Given the description of an element on the screen output the (x, y) to click on. 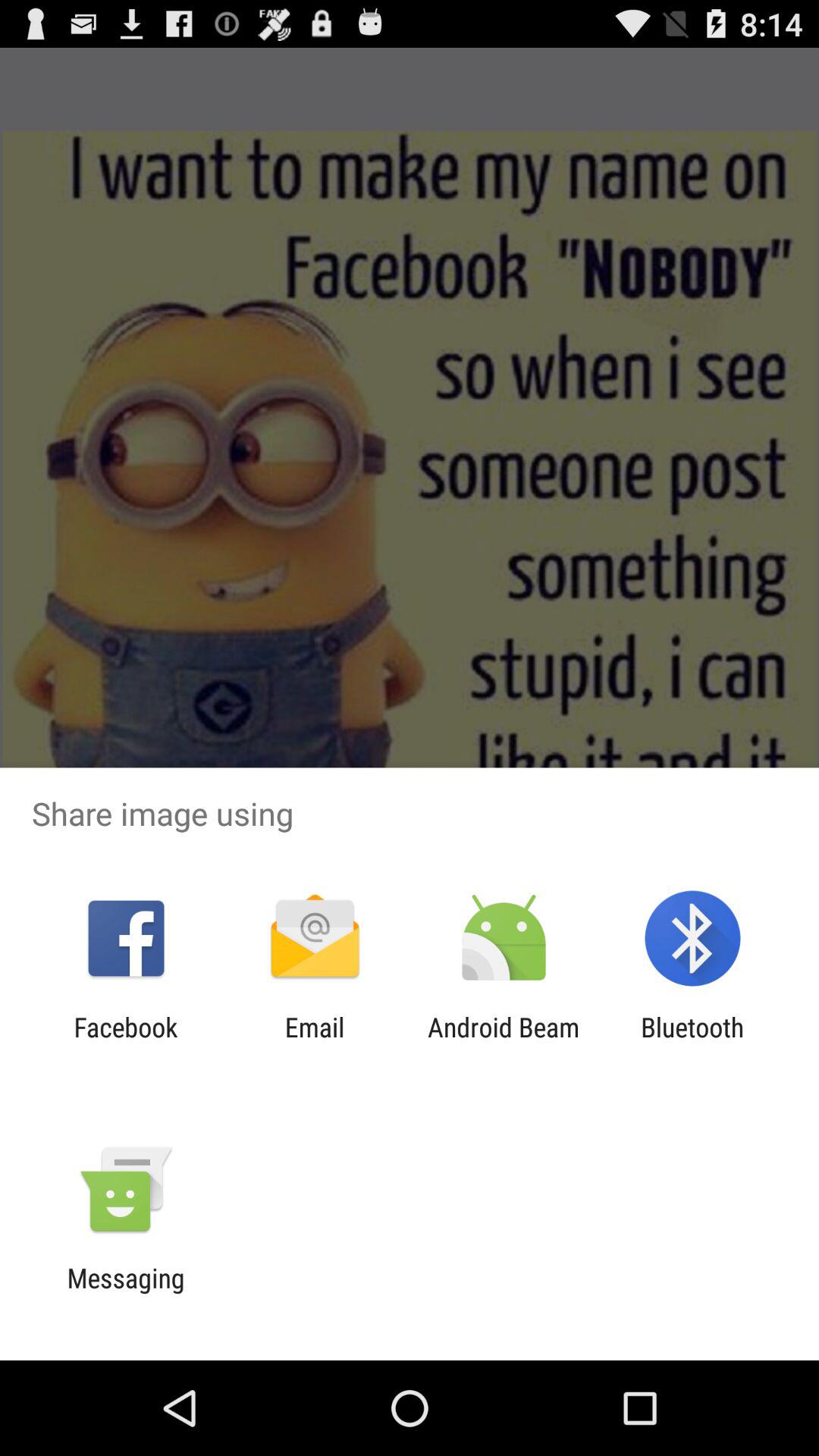
tap the email item (314, 1042)
